Given the description of an element on the screen output the (x, y) to click on. 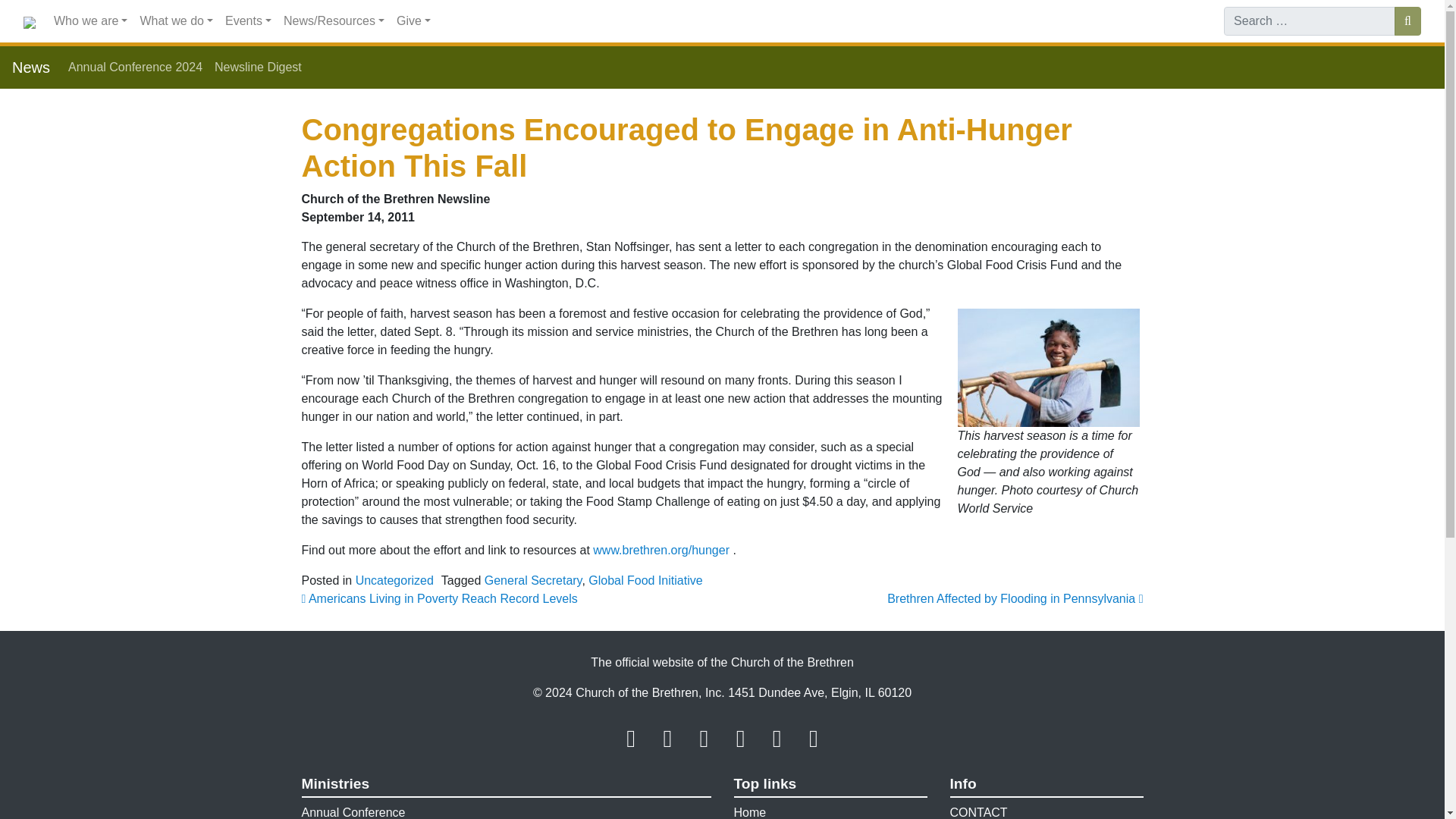
What we do (176, 20)
Who we are (90, 20)
Events (248, 20)
Who we are (90, 20)
What we do (176, 20)
